Given the description of an element on the screen output the (x, y) to click on. 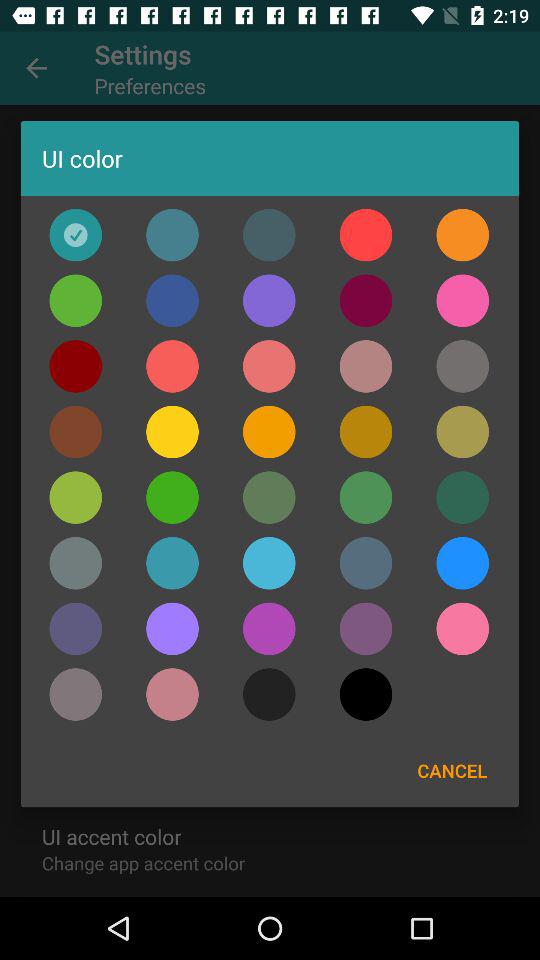
ui color blue (172, 300)
